Given the description of an element on the screen output the (x, y) to click on. 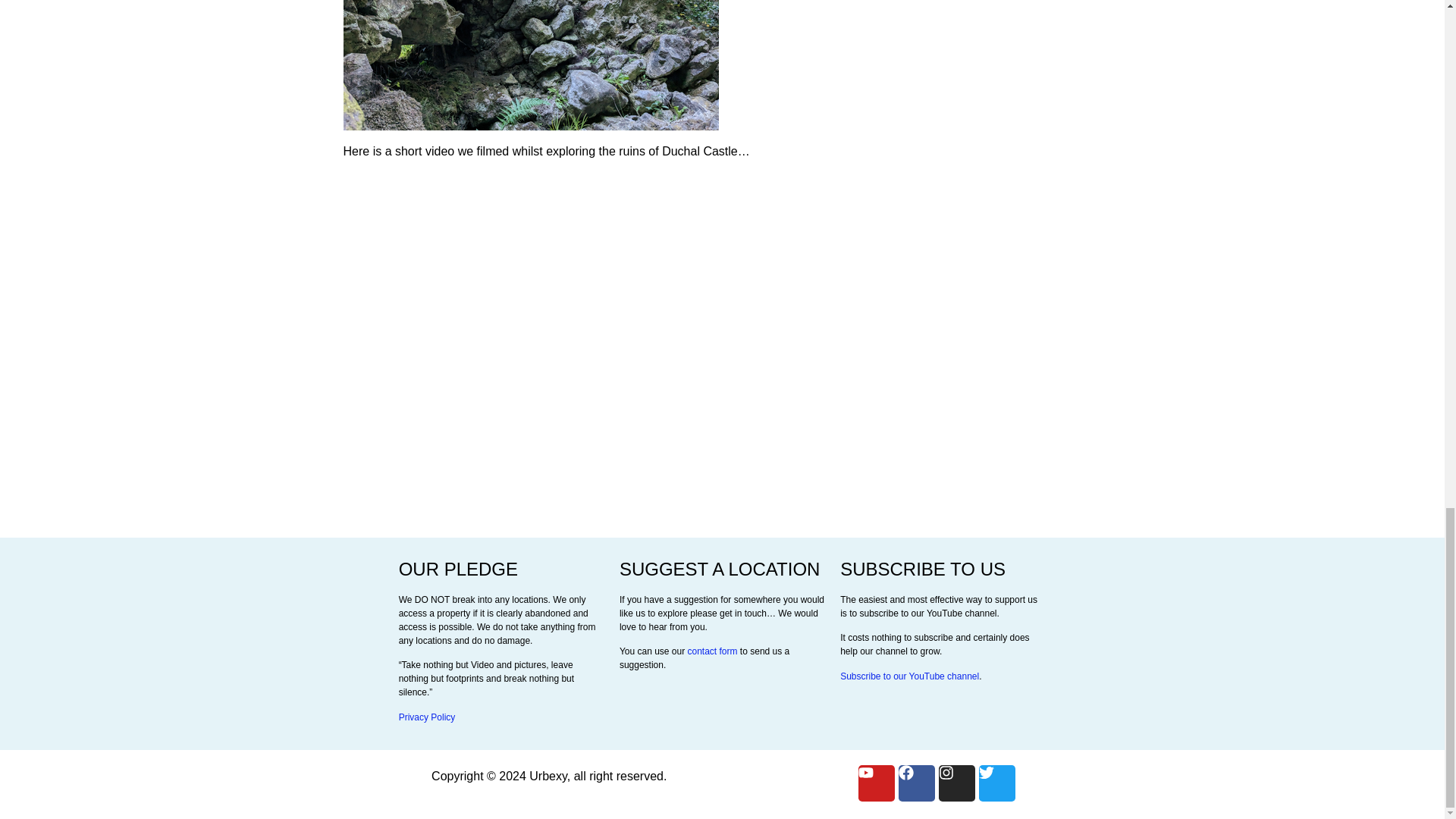
Subscribe to our YouTube channel (909, 675)
contact form (711, 651)
Privacy Policy (426, 716)
